Given the description of an element on the screen output the (x, y) to click on. 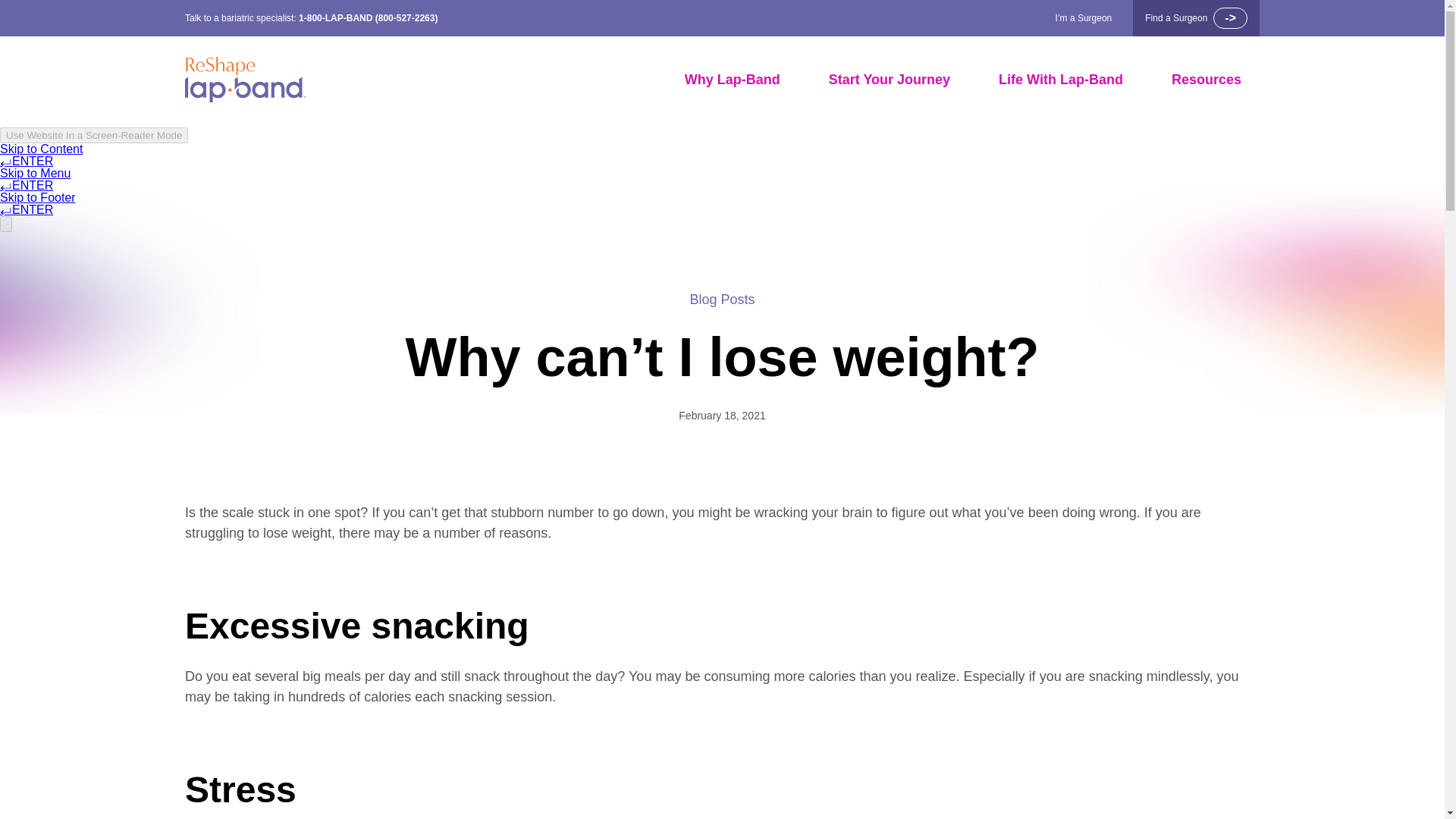
Life With Lap-Band (1060, 79)
Resources (1206, 79)
Start Your Journey (889, 79)
logo (244, 79)
Why Lap-Band (732, 79)
